Given the description of an element on the screen output the (x, y) to click on. 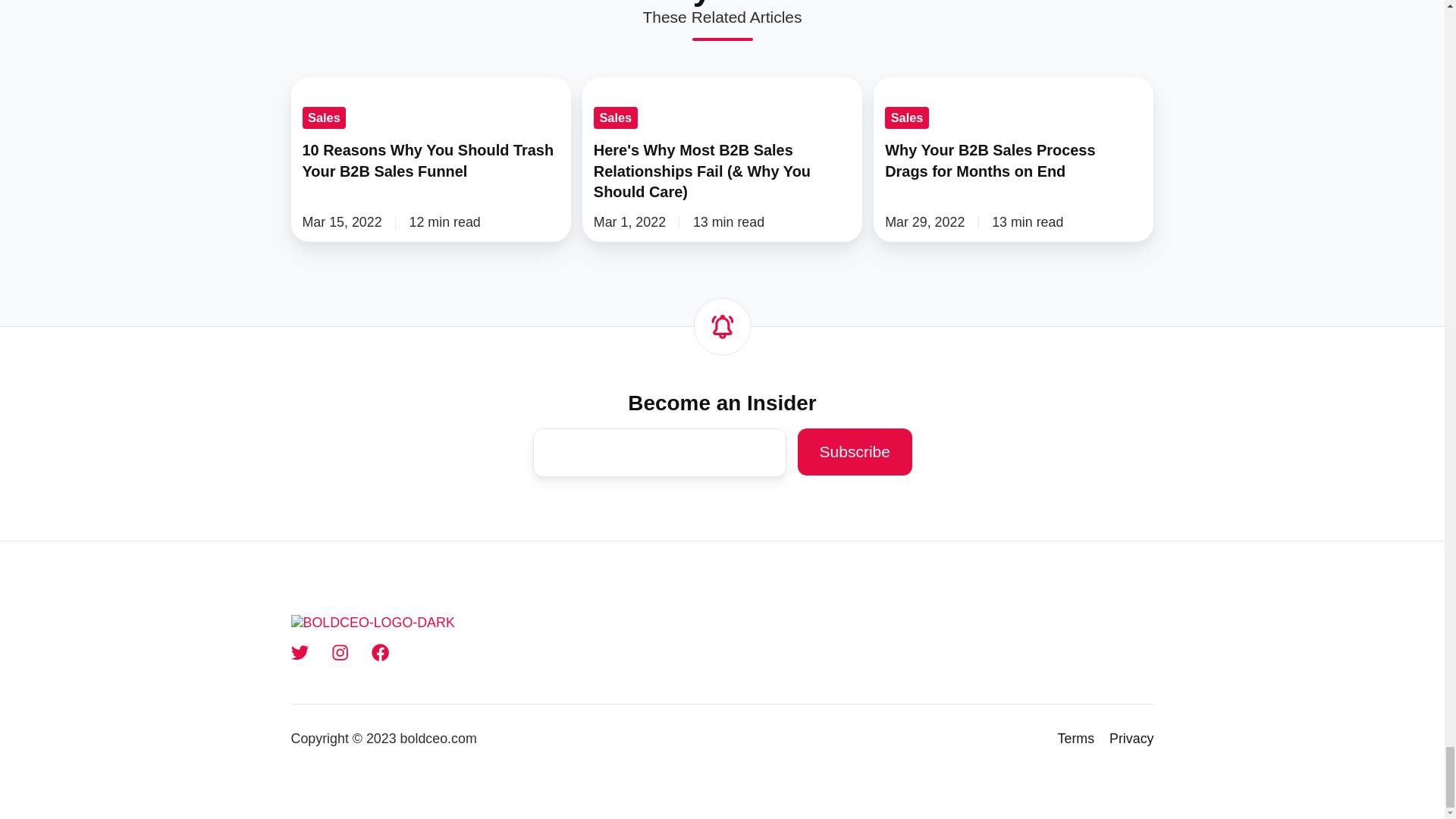
Sales (323, 117)
Sales (615, 117)
10 Reasons Why You Should Trash Your B2B Sales Funnel (430, 158)
Subscribe (854, 451)
